Given the description of an element on the screen output the (x, y) to click on. 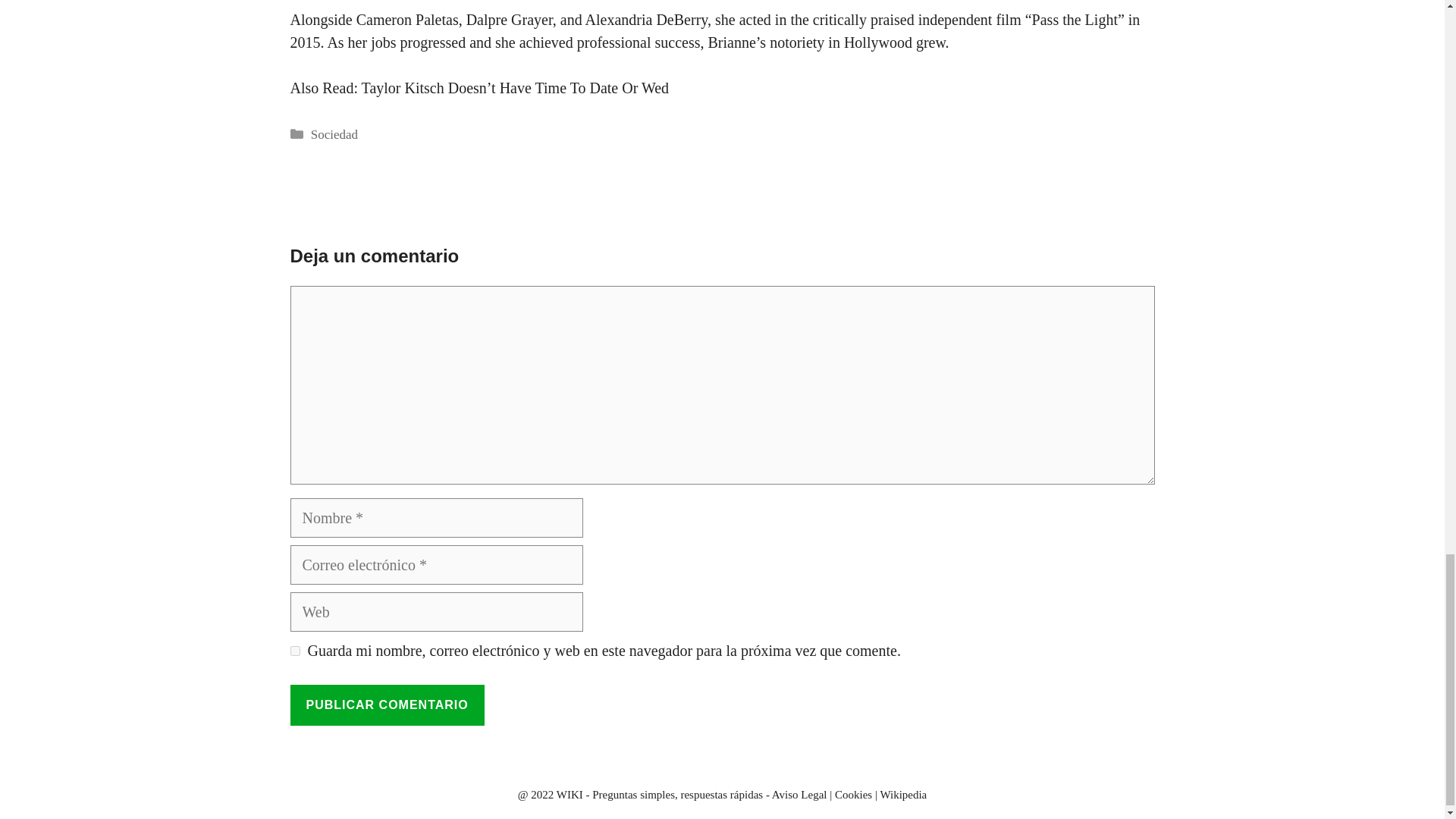
Wikipedia (902, 794)
Aviso Legal (799, 794)
Publicar comentario (386, 704)
Sociedad (334, 134)
Cookies (853, 794)
yes (294, 651)
Publicar comentario (386, 704)
